Given the description of an element on the screen output the (x, y) to click on. 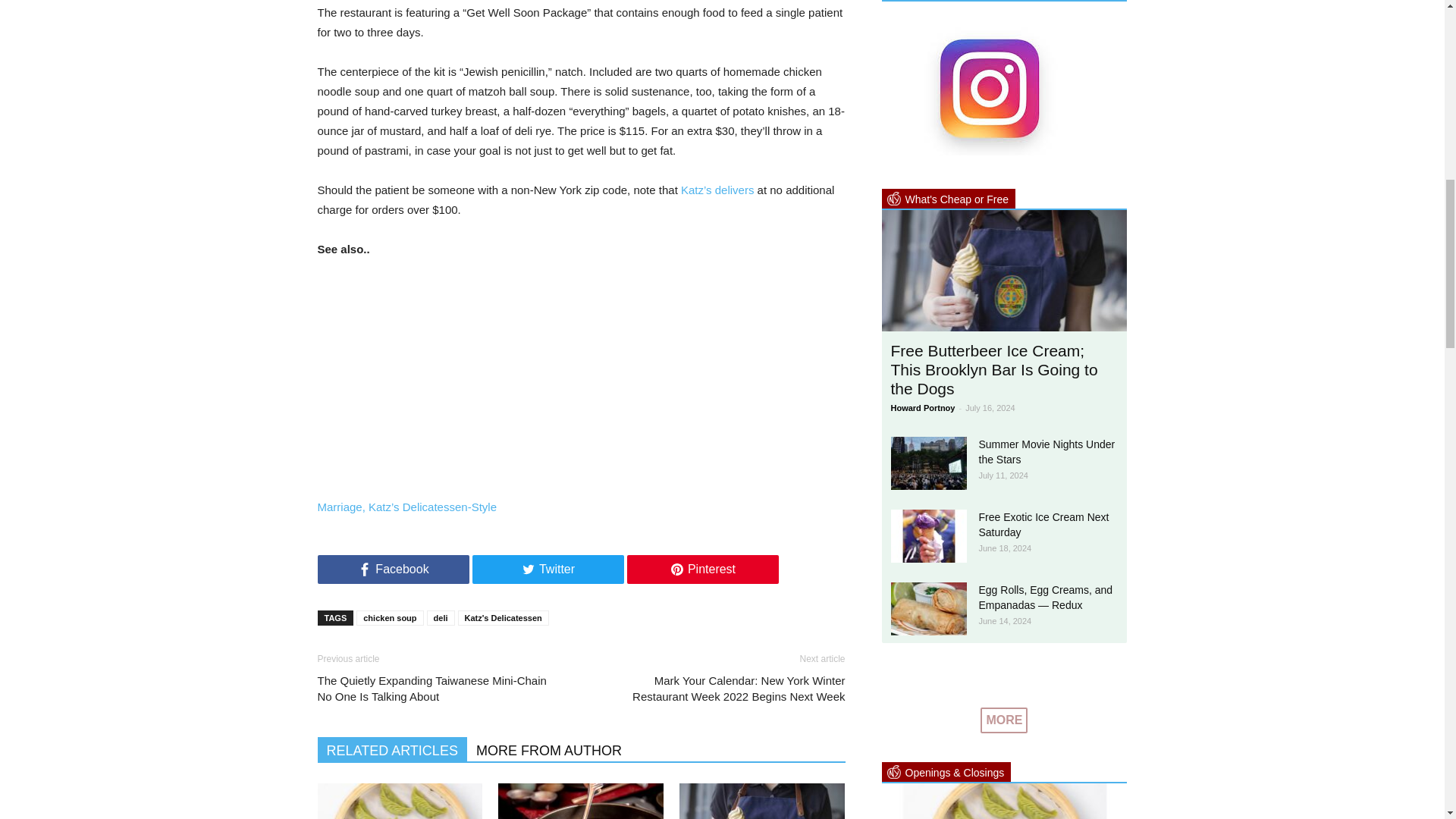
Twitter (547, 569)
Katz's Delicatessen (503, 617)
chicken soup (389, 617)
deli (440, 617)
Facebook (392, 569)
3rd party ad content (579, 385)
Pinterest (701, 569)
Din Tai Fung New York Has Finally Opened (399, 800)
High-End Wagyu Beef Emporium Hyun Expands Its Menu (580, 800)
